Given the description of an element on the screen output the (x, y) to click on. 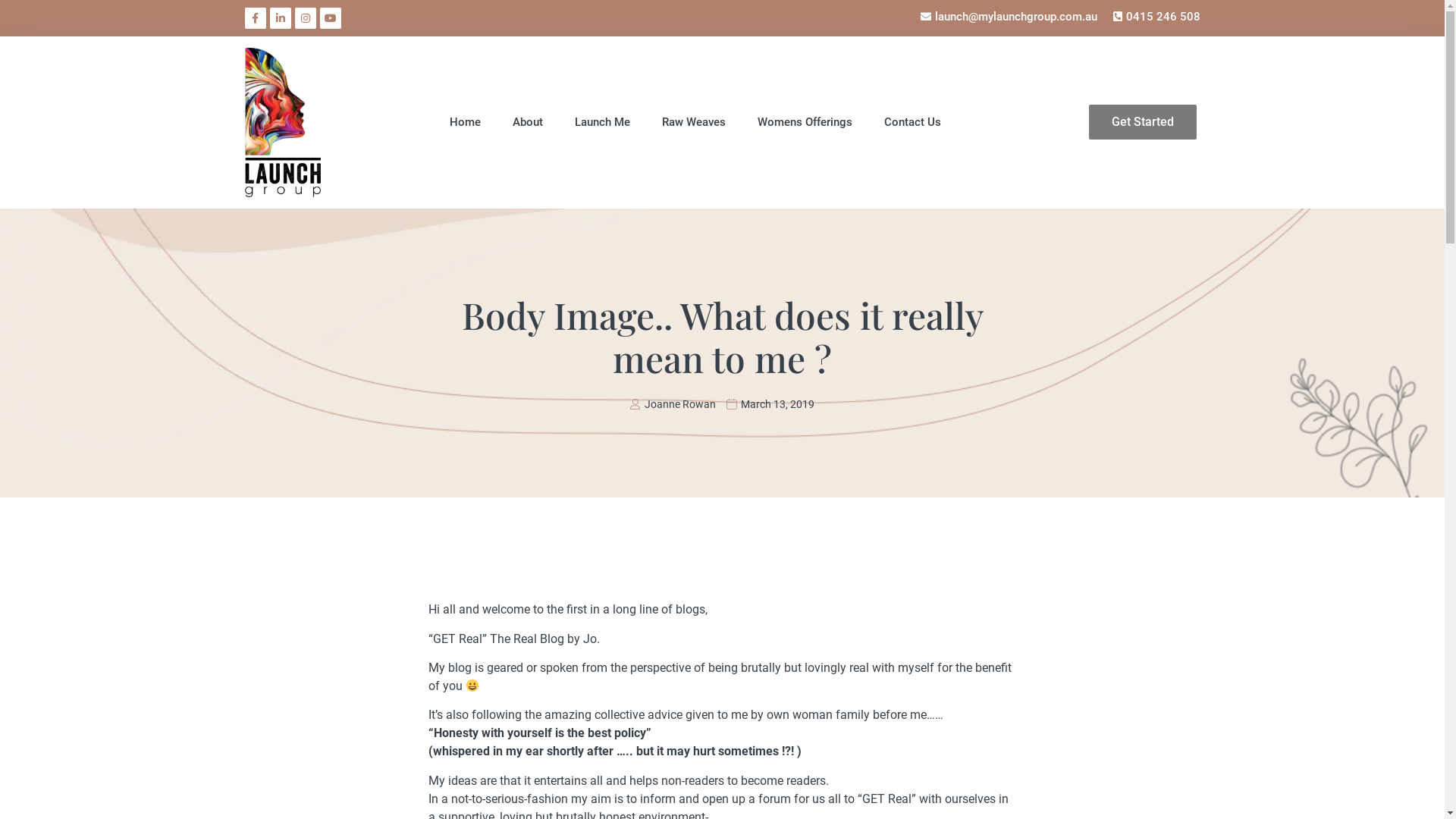
Get Started Element type: text (1142, 121)
Joanne Rowan Element type: text (672, 403)
Contact Us Element type: text (912, 122)
Home Element type: text (464, 122)
Launch Me Element type: text (602, 122)
March 13, 2019 Element type: text (770, 403)
About Element type: text (527, 122)
Raw Weaves Element type: text (693, 122)
0415 246 508 Element type: text (1154, 16)
launch@mylaunchgroup.com.au Element type: text (1007, 16)
Womens Offerings Element type: text (804, 122)
